Given the description of an element on the screen output the (x, y) to click on. 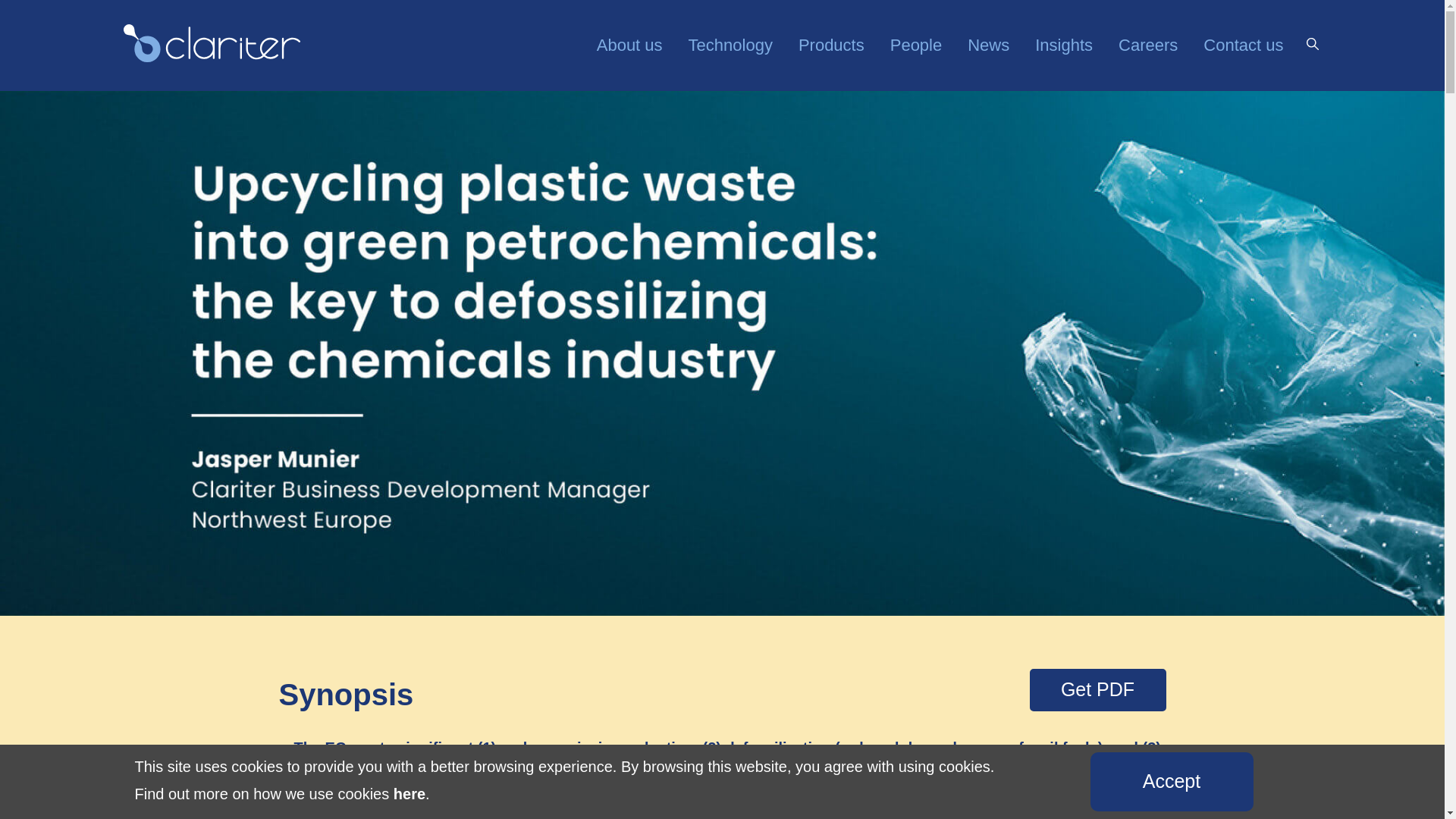
Products (831, 38)
Technology (730, 38)
here (409, 793)
Contact us (1236, 38)
News (988, 38)
Insights (1063, 38)
People (916, 38)
Accept (1171, 781)
About us (629, 38)
Careers (1148, 38)
Get PDF (1097, 690)
